Given the description of an element on the screen output the (x, y) to click on. 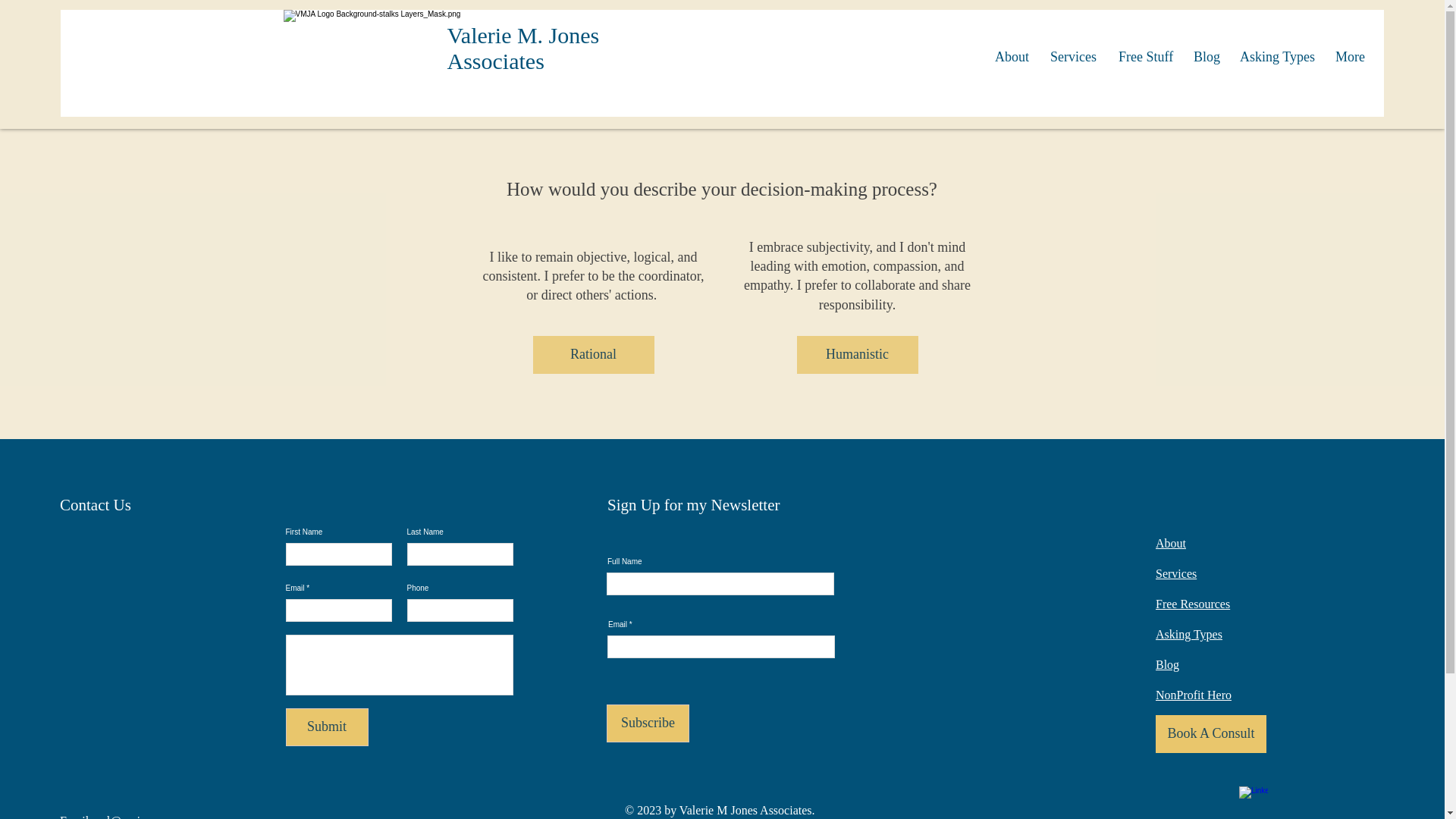
Asking Types (1275, 56)
Valerie M. Jones Associates (522, 47)
Blog (1205, 56)
Submit (326, 727)
Rational (592, 354)
Asking Types (1189, 634)
Book A Consult (1211, 733)
Humanistic (856, 354)
Free Resources (1193, 603)
Free Stuff (1144, 56)
